Given the description of an element on the screen output the (x, y) to click on. 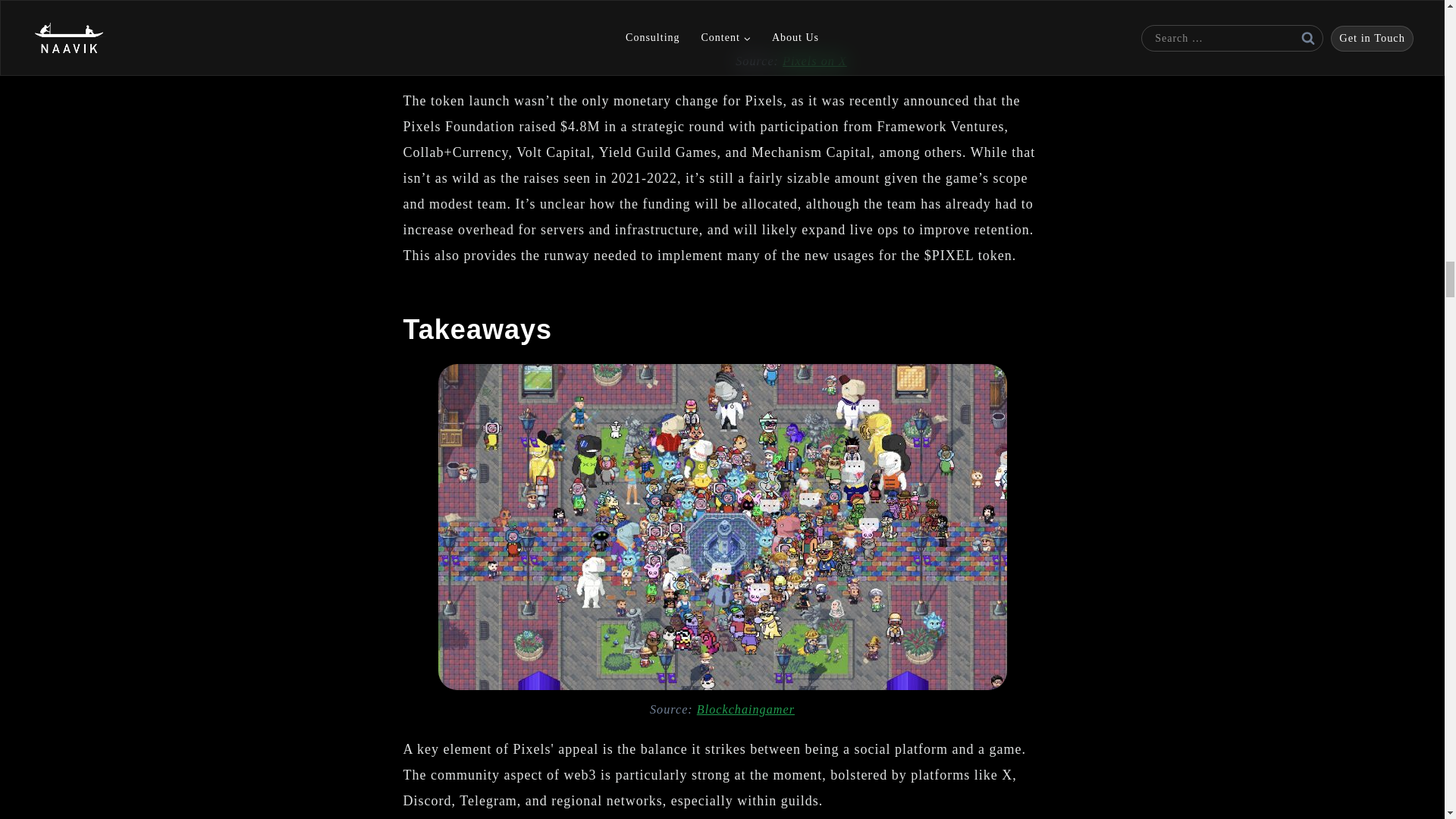
Pixels on X (815, 60)
Blockchaingamer (745, 709)
